Given the description of an element on the screen output the (x, y) to click on. 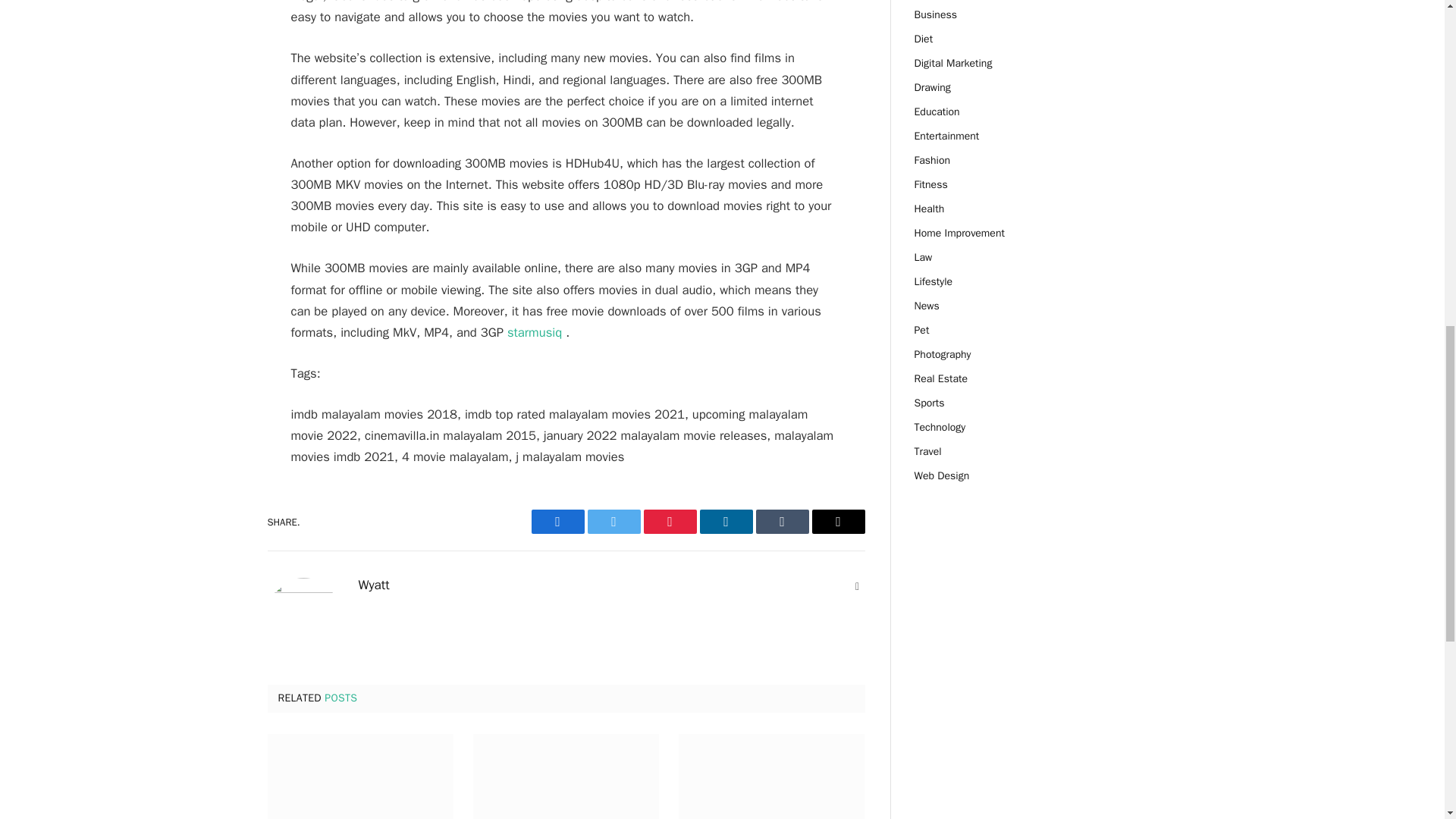
starmusiq  (536, 332)
Facebook (557, 521)
